Given the description of an element on the screen output the (x, y) to click on. 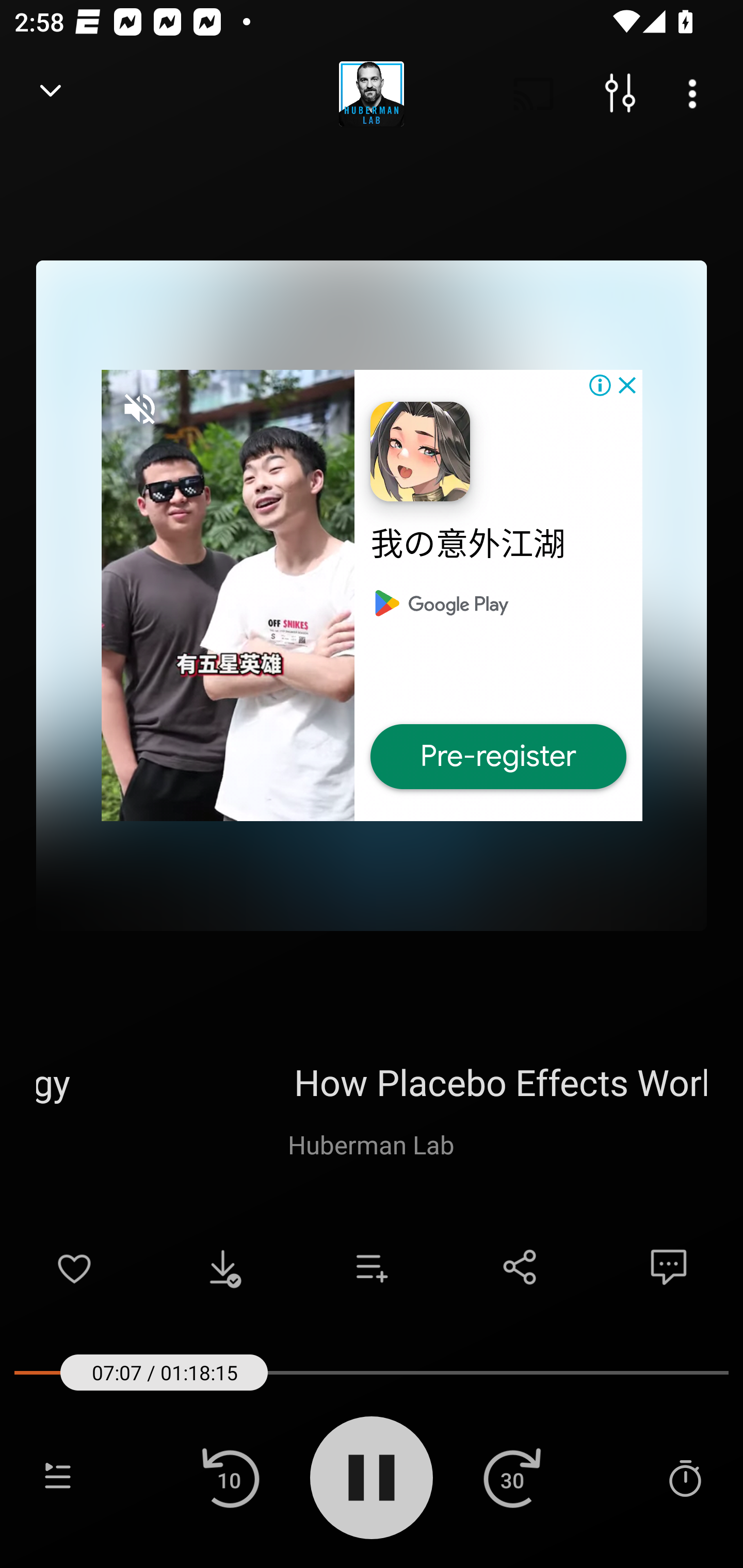
Cast. Disconnected (533, 93)
 Back (50, 94)
我の意外江湖 Pre-register Pre-register (371, 595)
Pre-register (498, 757)
Huberman Lab (370, 1144)
Comments (668, 1266)
Add to Favorites (73, 1266)
Add to playlist (371, 1266)
Share (519, 1266)
 Playlist (57, 1477)
Sleep Timer  (684, 1477)
